Given the description of an element on the screen output the (x, y) to click on. 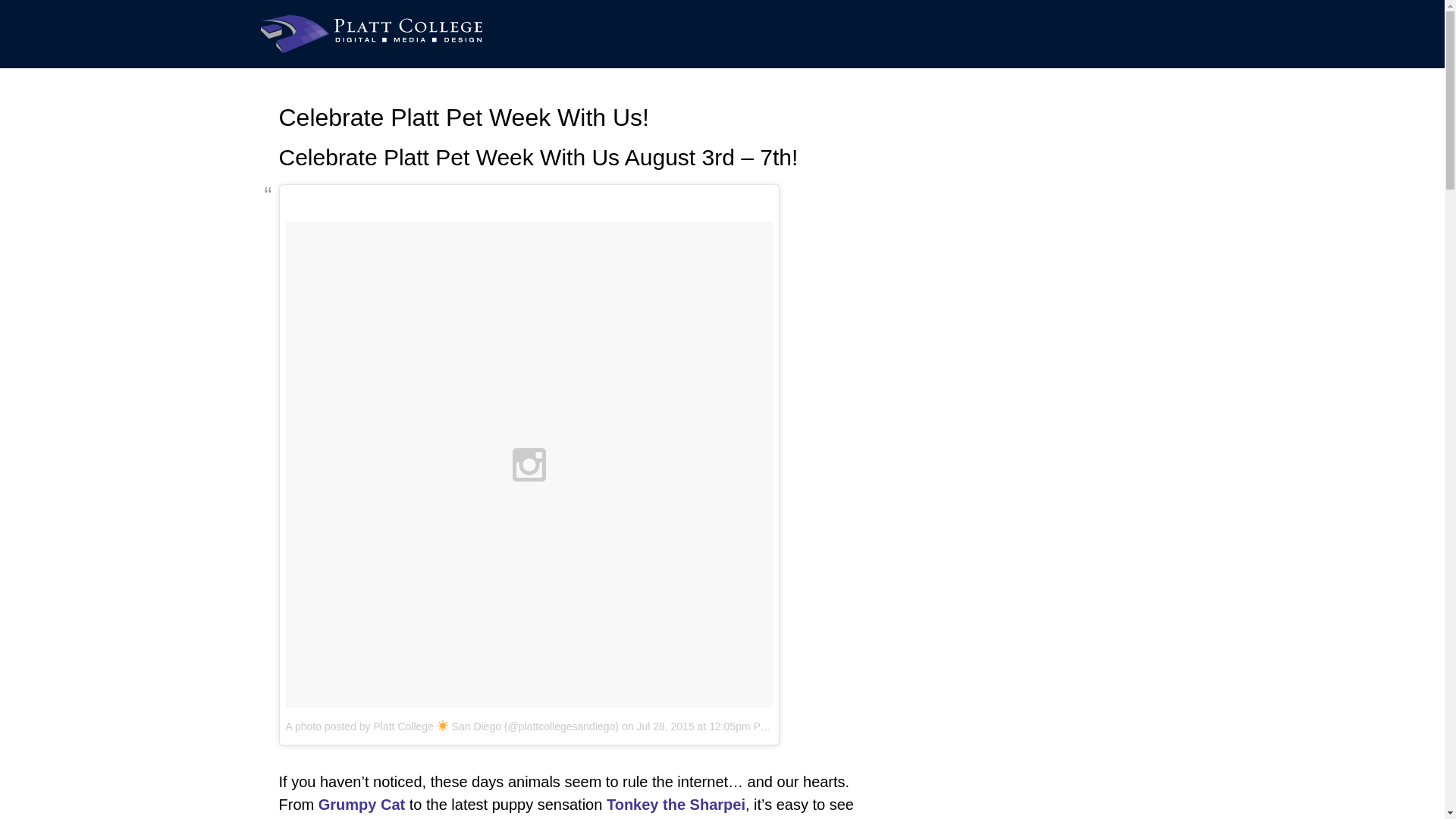
Tonkey the Sharpei (673, 804)
Grumpy Cat (361, 804)
Tonkey The Sharpei (673, 804)
PLATT COLLEGE SAN DIEGO (370, 34)
Grumpy Cat (361, 804)
